Given the description of an element on the screen output the (x, y) to click on. 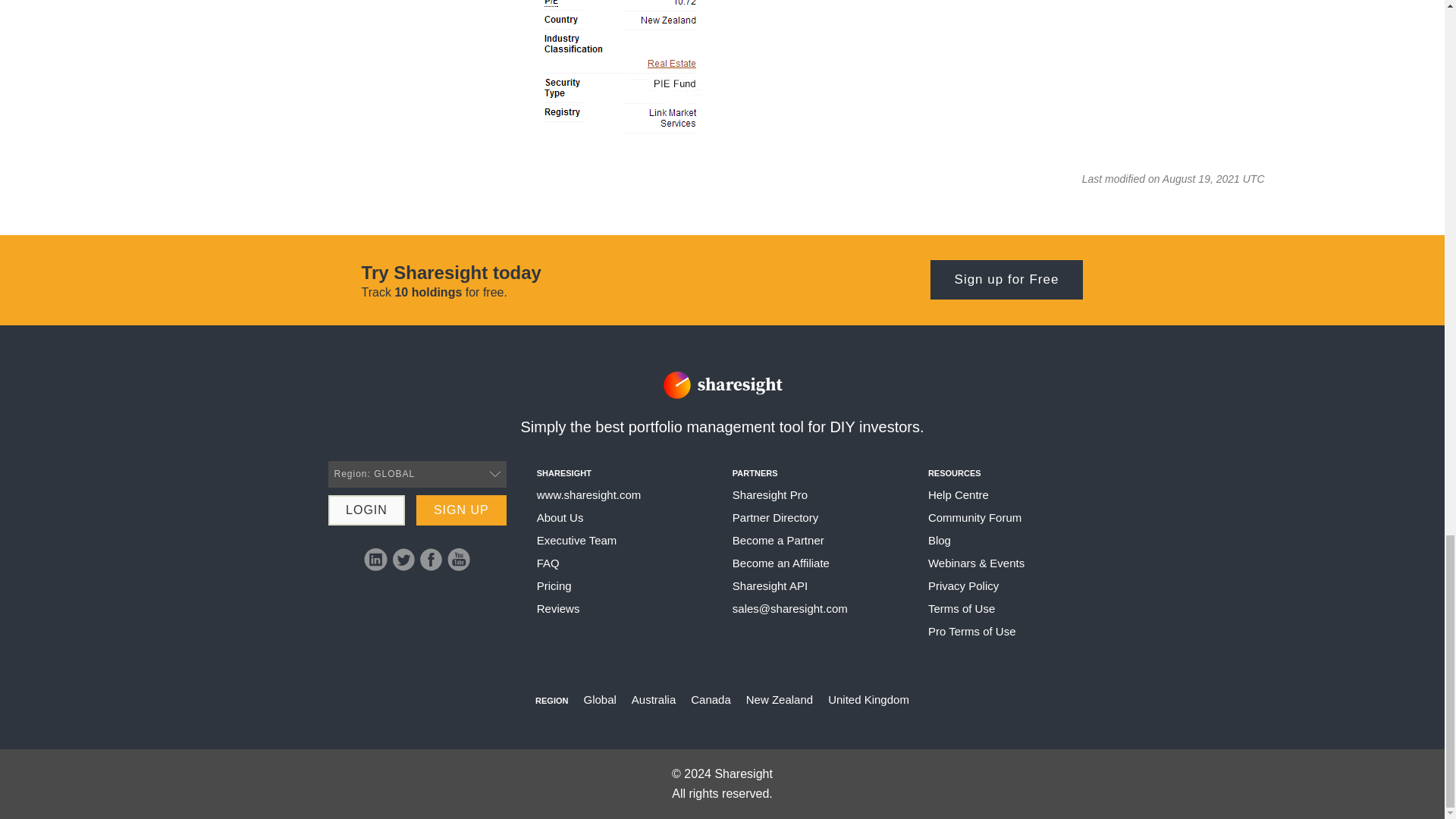
Login to Sharesight (366, 510)
Sign up for Sharesight (1006, 279)
Sharesight Help (589, 494)
Check us out on Twitter (403, 558)
Check us out on LinkedIn (375, 558)
Check us out on Facebook (431, 558)
Sign up for Sharesight (461, 510)
Check us out on Youtube (458, 558)
